Given the description of an element on the screen output the (x, y) to click on. 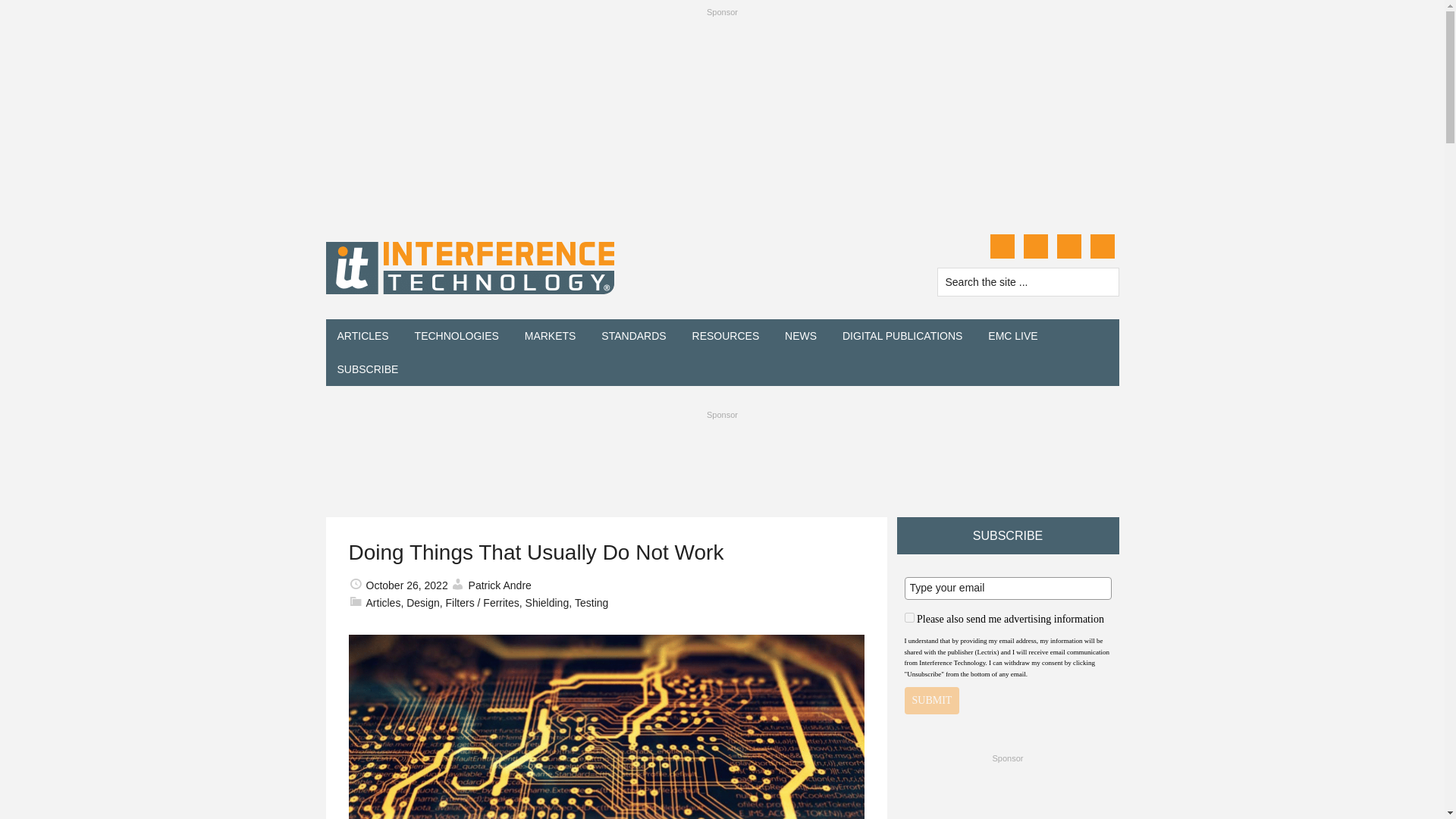
ARTICLES (363, 335)
Interference Technology (470, 268)
EMC LIVE (1012, 335)
STANDARDS (633, 335)
MARKETS (550, 335)
Please also send me advertising information (909, 617)
3rd party ad content (721, 459)
NEWS (800, 335)
TECHNOLOGIES (457, 335)
3rd party ad content (1007, 794)
RESOURCES (726, 335)
